Given the description of an element on the screen output the (x, y) to click on. 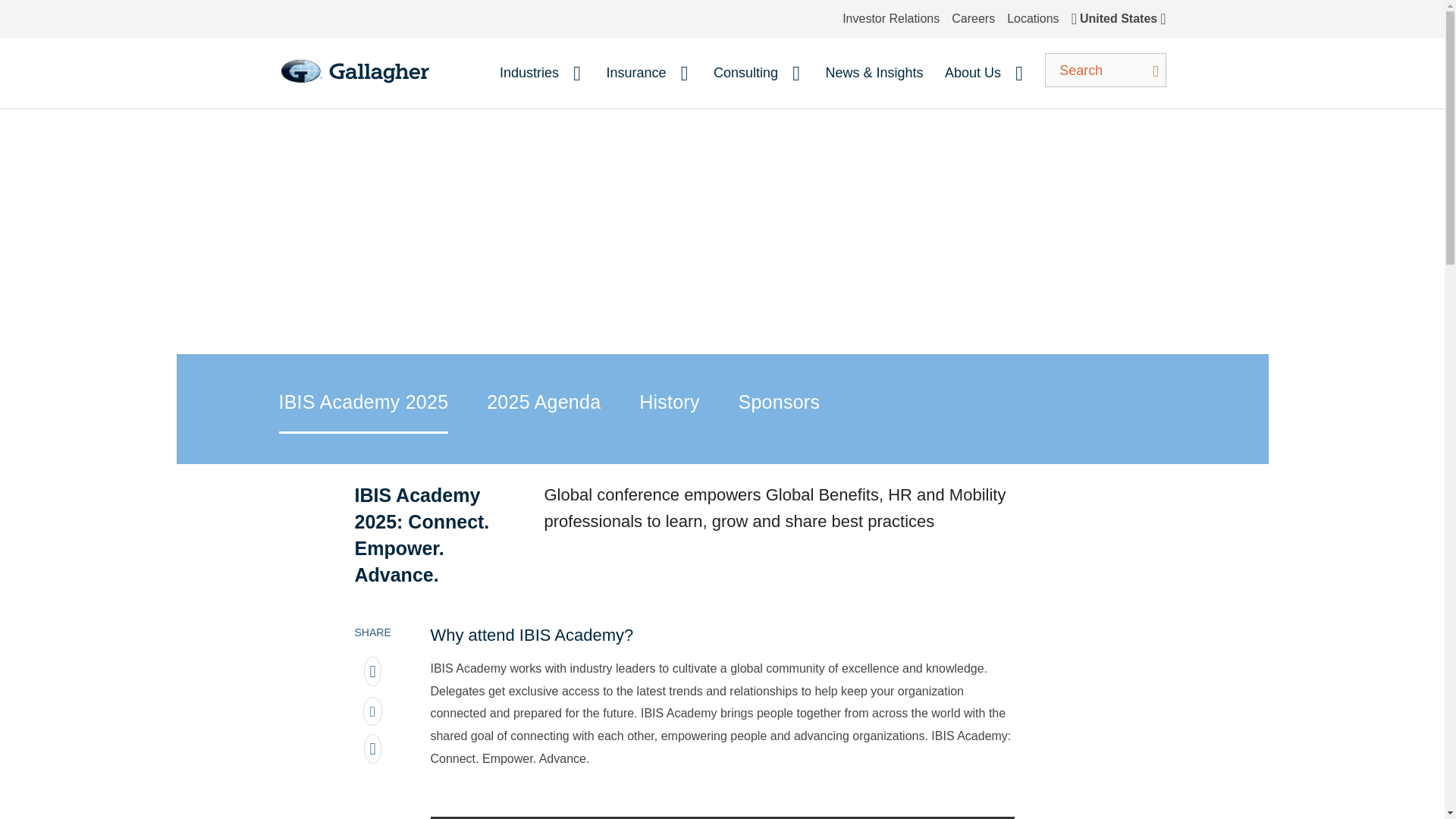
Investor Relations (891, 18)
Industries (538, 72)
Careers (973, 18)
Locations (1033, 18)
